Given the description of an element on the screen output the (x, y) to click on. 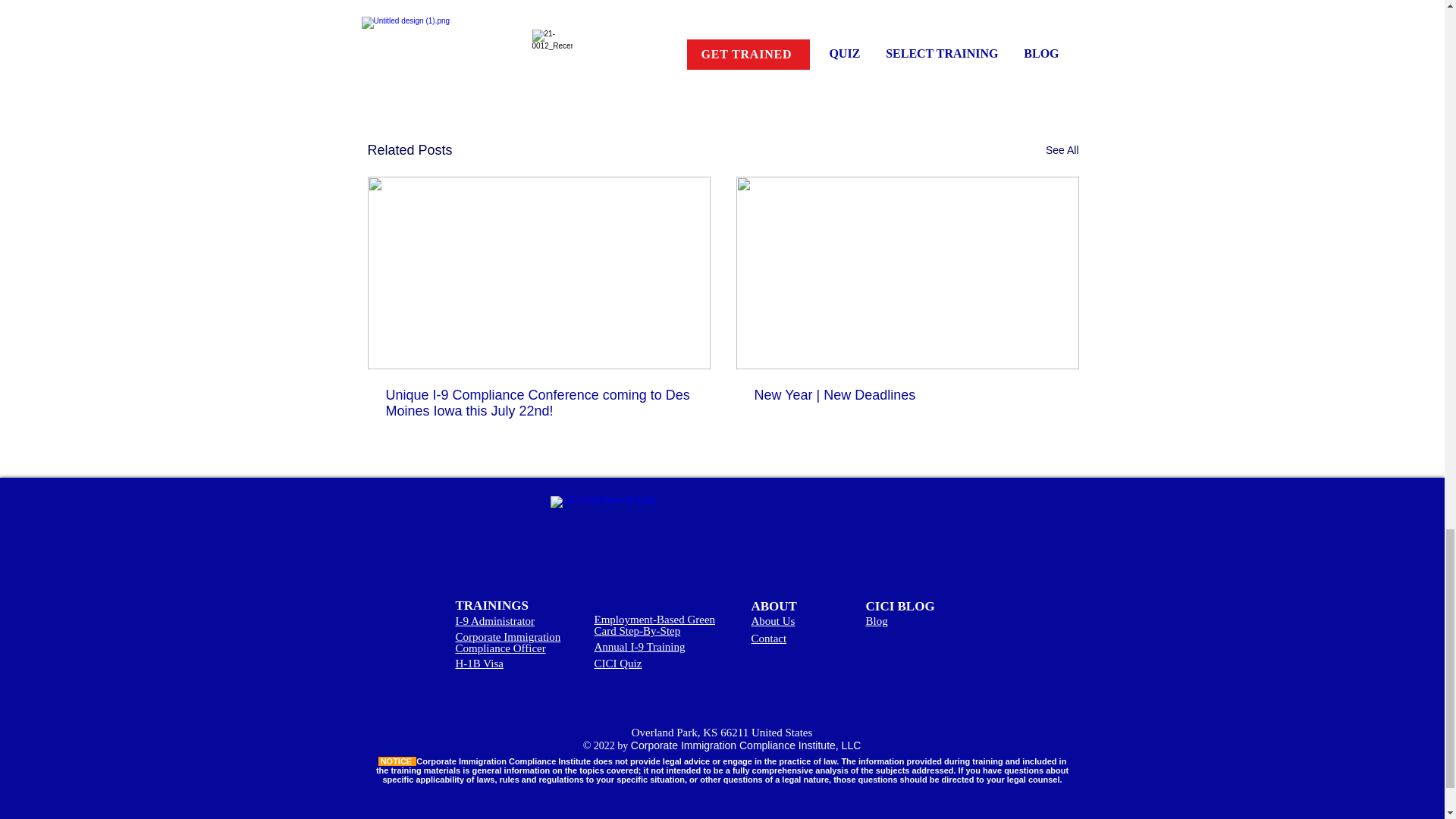
H-1B Visa (478, 663)
Employment-Based Green Card Step-By-Step (655, 625)
CICI Quiz (618, 663)
Blog (877, 621)
Corporate Immigration Compliance Officer (507, 642)
I-9 Administrator (494, 621)
About Us (772, 621)
I-9 (997, 53)
See All (1061, 150)
